Given the description of an element on the screen output the (x, y) to click on. 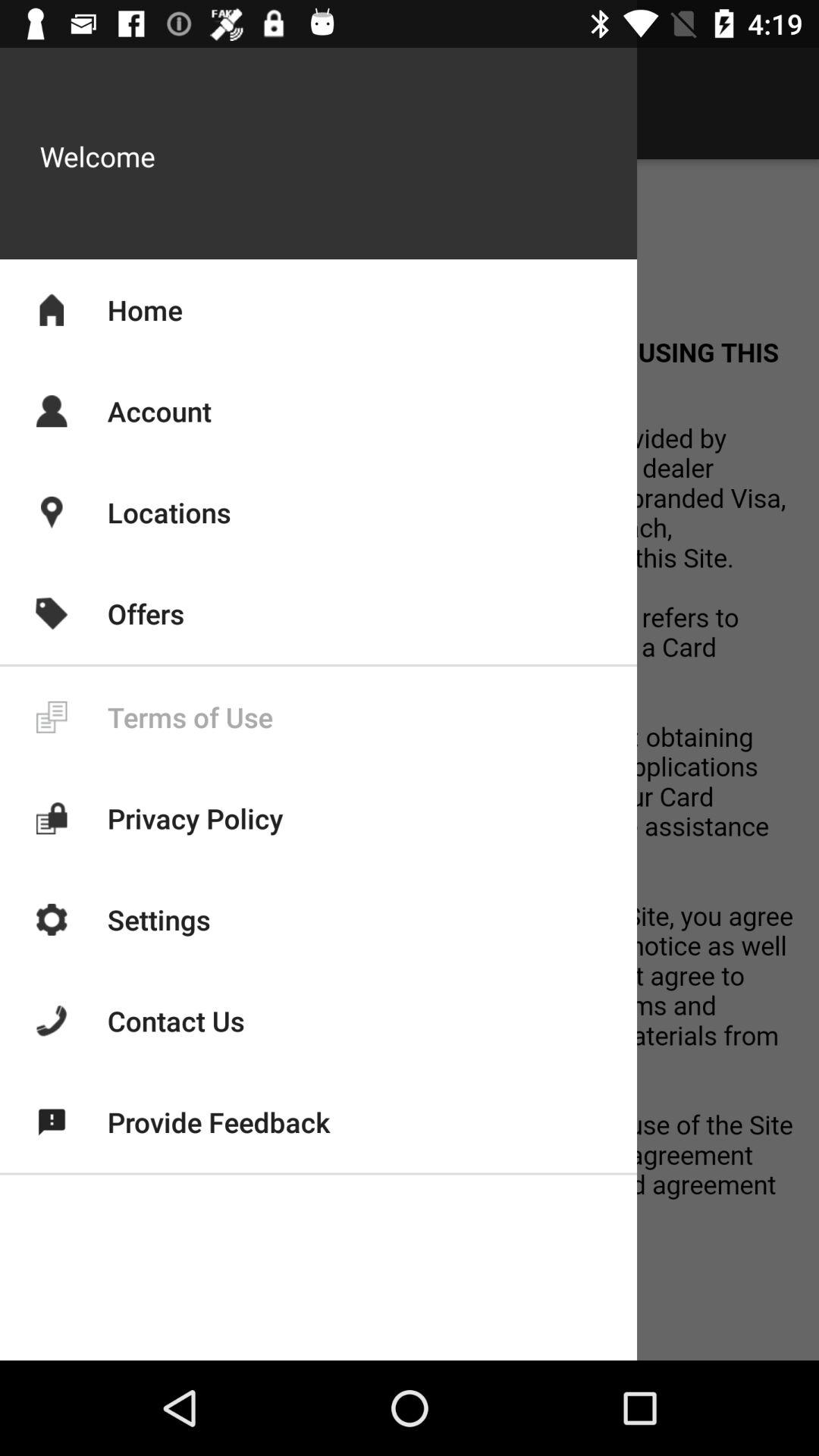
click on the location icon (51, 512)
select the home icon (51, 310)
click on the profile icon which is left to the account (51, 410)
